Given the description of an element on the screen output the (x, y) to click on. 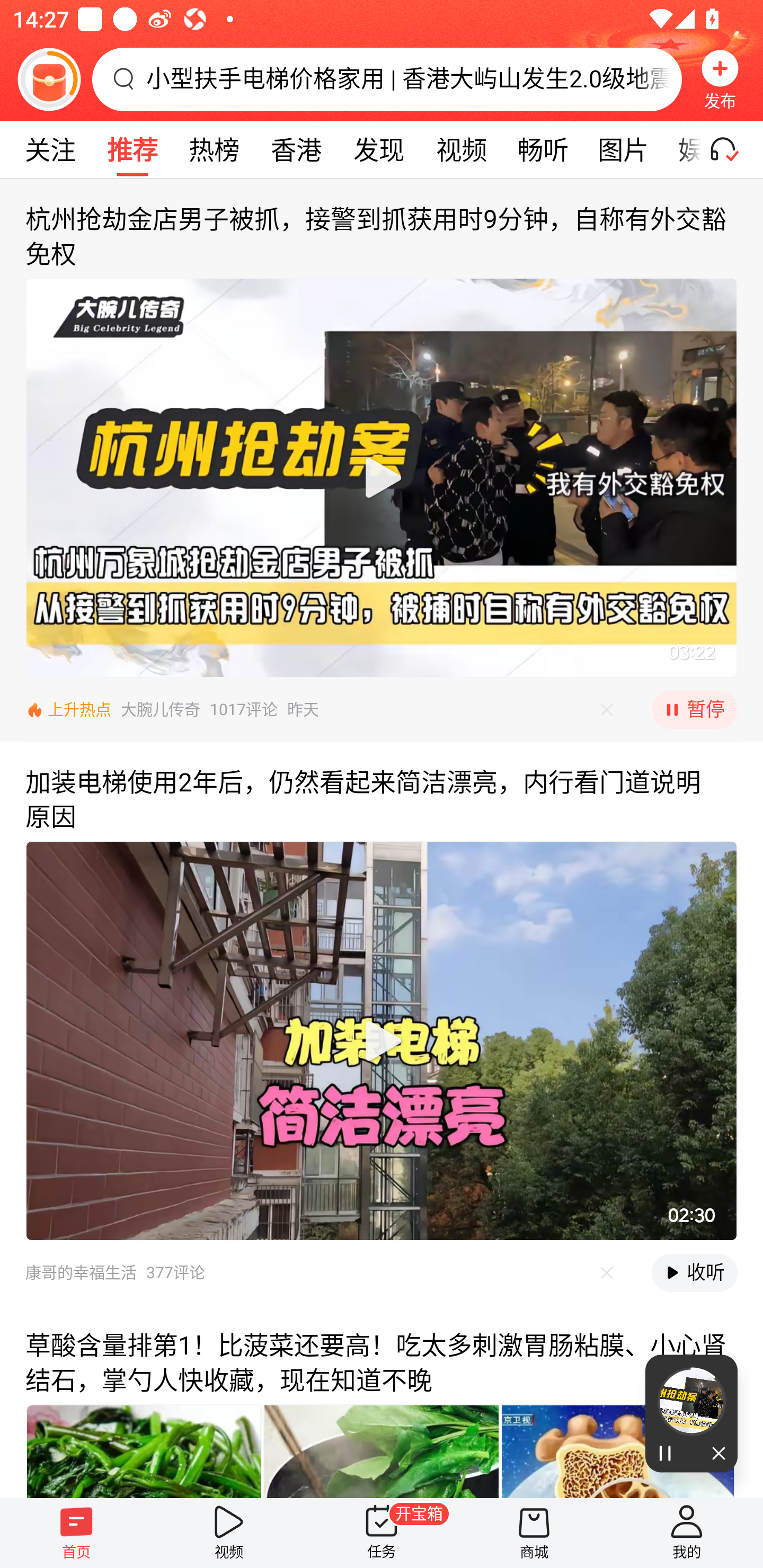
阅读赚金币 (48, 79)
发布 发布，按钮 (720, 78)
关注 (50, 149)
推荐 (132, 149)
热榜 (213, 149)
香港 (295, 149)
发现 (378, 149)
视频 (461, 149)
畅听 (542, 149)
图片 (623, 149)
听一听开关 (732, 149)
播放视频 视频播放器，双击屏幕打开播放控制 (381, 477)
播放视频 (381, 477)
暂停 (694, 710)
播放视频 视频播放器，双击屏幕打开播放控制 (381, 1040)
播放视频 (381, 1040)
收听 (694, 1273)
当前进度 12% 暂停 关闭 (691, 1413)
当前进度 12% (691, 1401)
暂停 (668, 1454)
关闭 (714, 1454)
首页 (76, 1532)
视频 (228, 1532)
任务 开宝箱 (381, 1532)
商城 (533, 1532)
我的 (686, 1532)
